Given the description of an element on the screen output the (x, y) to click on. 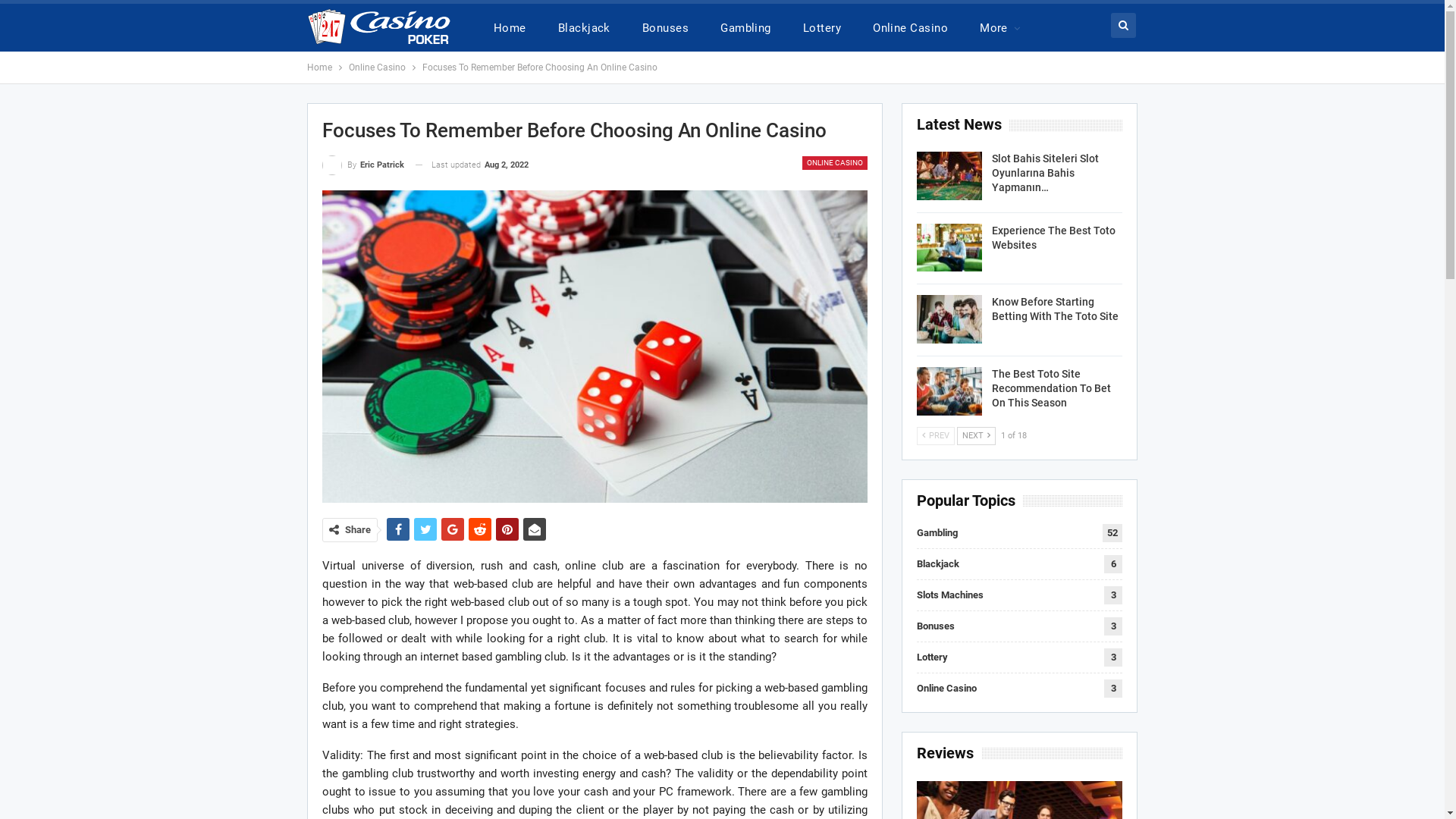
Online Casino Element type: text (910, 27)
Know Before Starting Betting With The Toto Site Element type: text (1054, 308)
PREV Element type: text (935, 435)
Know Before Starting Betting With The Toto Site Element type: hover (949, 318)
Gambling Element type: text (745, 27)
Blackjack
6 Element type: text (937, 563)
Experience The Best Toto Websites Element type: text (1053, 237)
The Best Toto Site Recommendation To Bet On This Season Element type: hover (949, 391)
Slots Machines
3 Element type: text (949, 593)
Home Element type: text (319, 67)
ONLINE CASINO Element type: text (834, 162)
Bonuses Element type: text (665, 27)
Online Casino Element type: text (376, 67)
By Eric Patrick Element type: text (363, 165)
Blackjack Element type: text (584, 27)
NEXT Element type: text (976, 435)
Lottery Element type: text (821, 27)
More Element type: text (999, 27)
Lottery
3 Element type: text (931, 656)
Home Element type: text (509, 27)
Gambling
52 Element type: text (936, 531)
Bonuses
3 Element type: text (935, 625)
The Best Toto Site Recommendation To Bet On This Season Element type: text (1050, 387)
Online Casino
3 Element type: text (946, 687)
Experience The Best Toto Websites Element type: hover (949, 247)
